Given the description of an element on the screen output the (x, y) to click on. 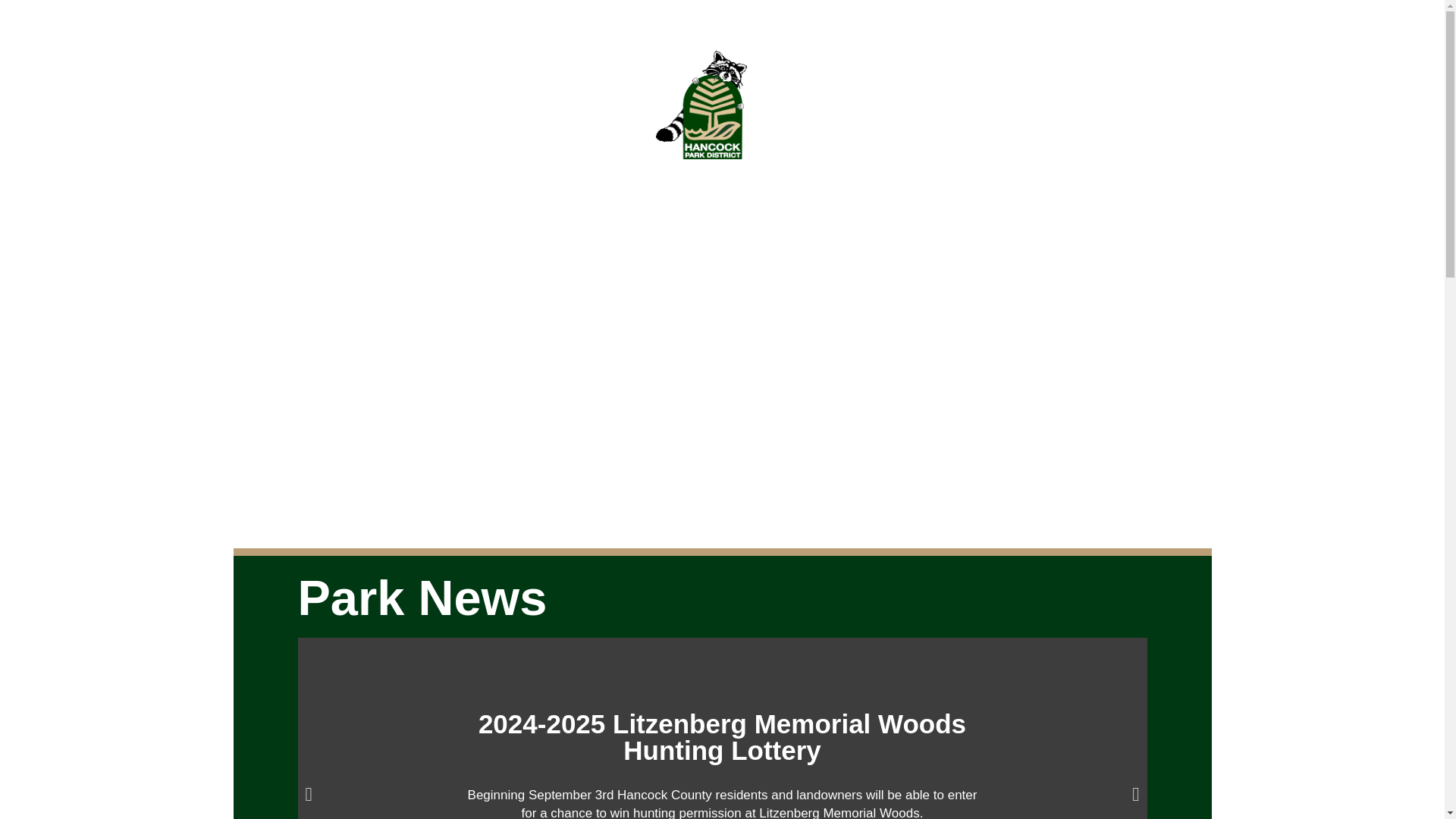
PARKS (377, 104)
EMPLOYMENT (1055, 105)
ABOUT (294, 104)
419-425-7275 (291, 17)
PROGRAMS (556, 104)
VOLUNTEER (954, 105)
RESERVATIONS (848, 105)
TRAILS (460, 104)
